Given the description of an element on the screen output the (x, y) to click on. 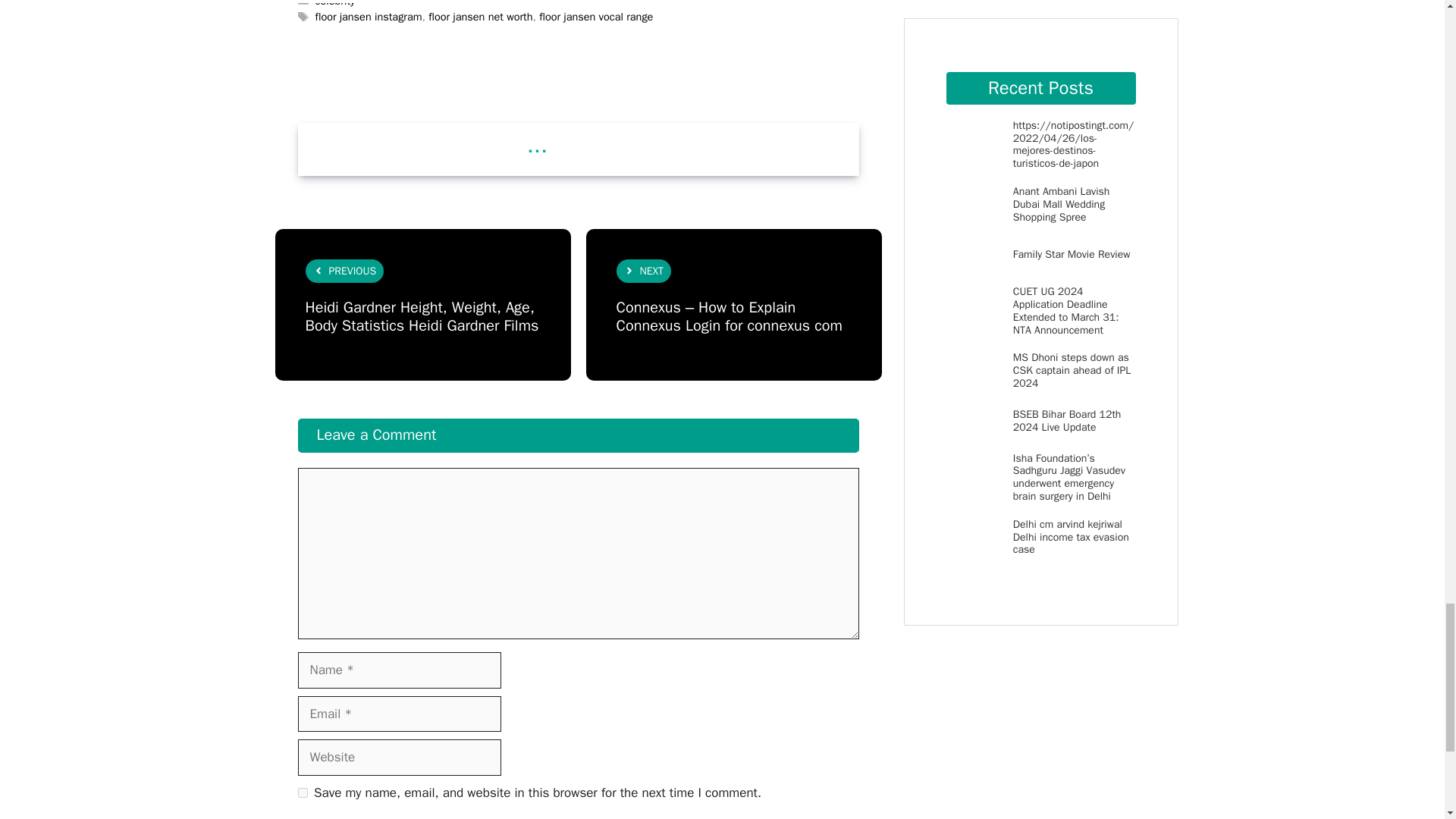
yes (302, 792)
floor jansen instagram (368, 16)
floor jansen vocal range (595, 16)
celebrity (335, 3)
floor jansen net worth (480, 16)
